Given the description of an element on the screen output the (x, y) to click on. 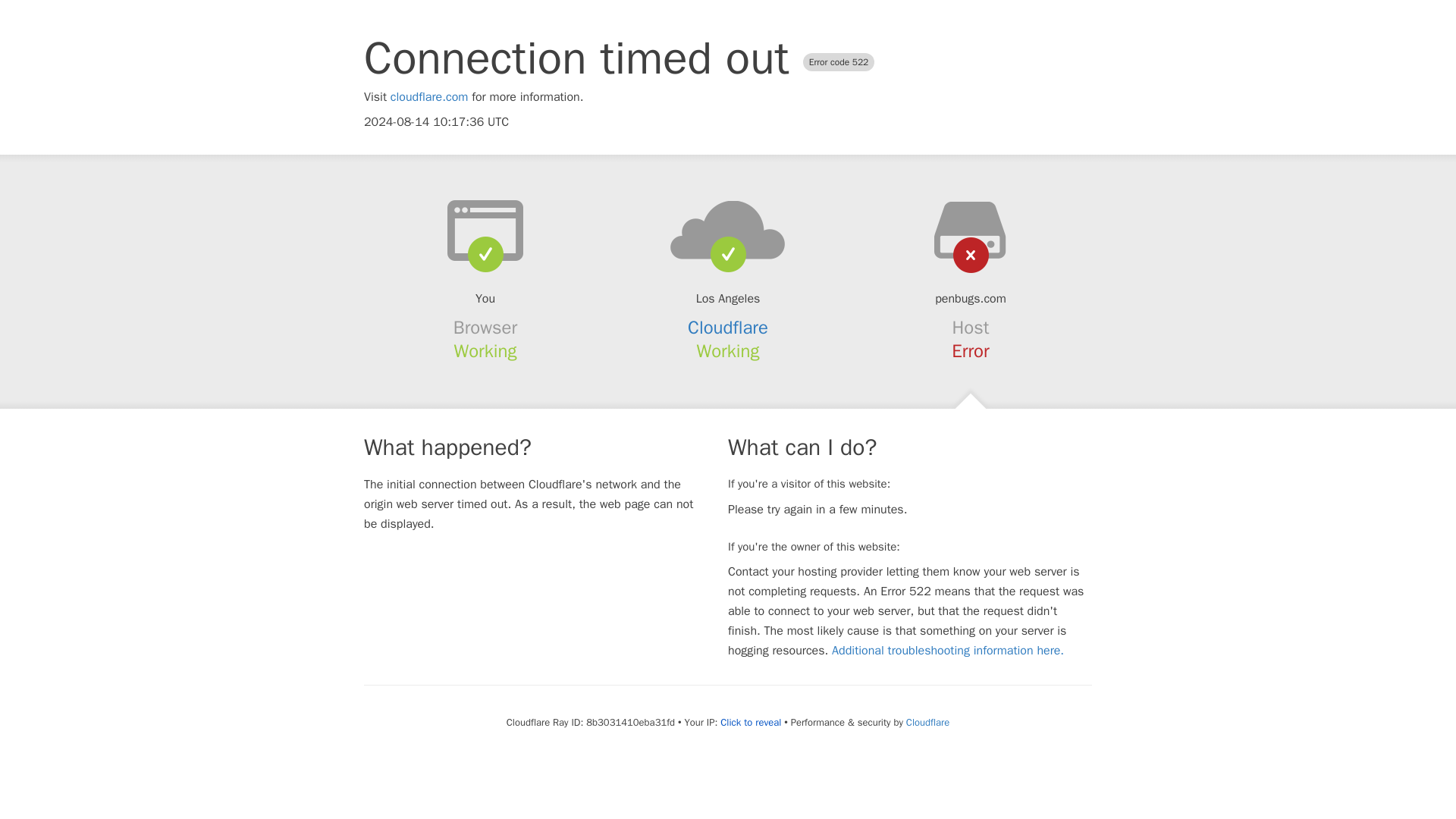
Additional troubleshooting information here. (947, 650)
Cloudflare (927, 721)
Click to reveal (750, 722)
cloudflare.com (429, 96)
Cloudflare (727, 327)
